Given the description of an element on the screen output the (x, y) to click on. 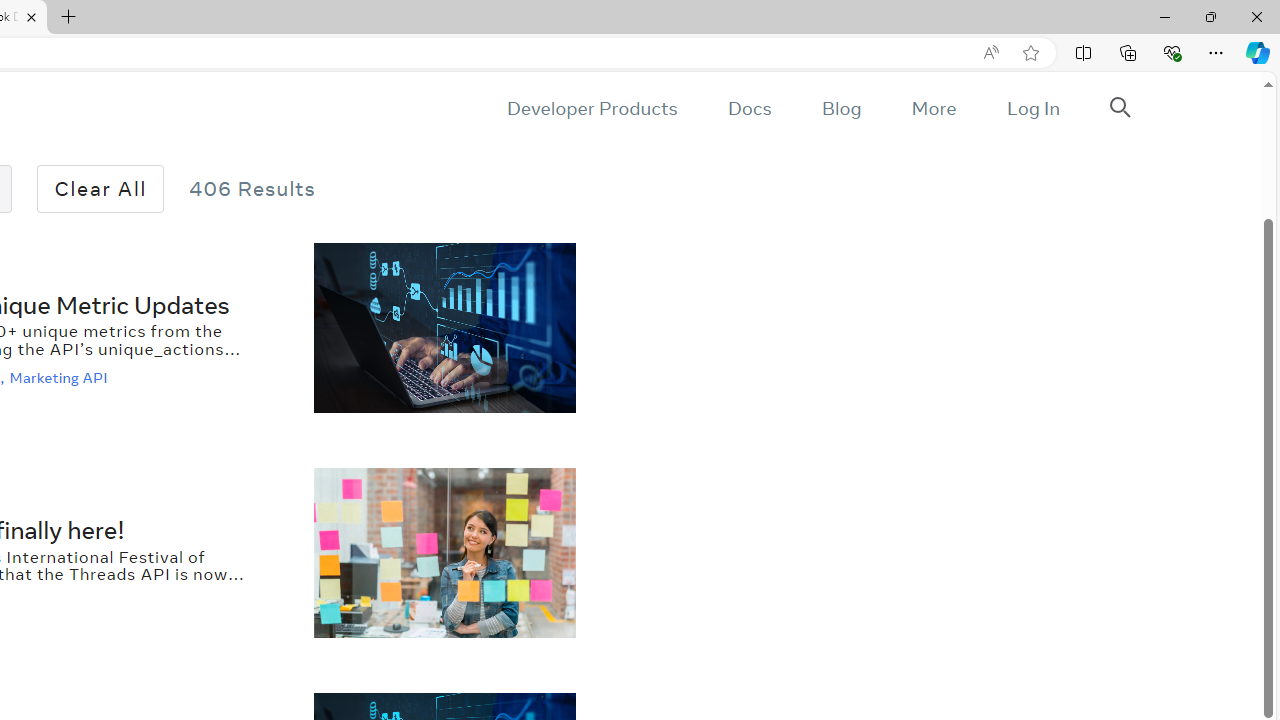
Developer Products (591, 108)
More (933, 108)
Docs (749, 108)
Blog (841, 108)
Log In (1032, 108)
Docs (749, 108)
